Given the description of an element on the screen output the (x, y) to click on. 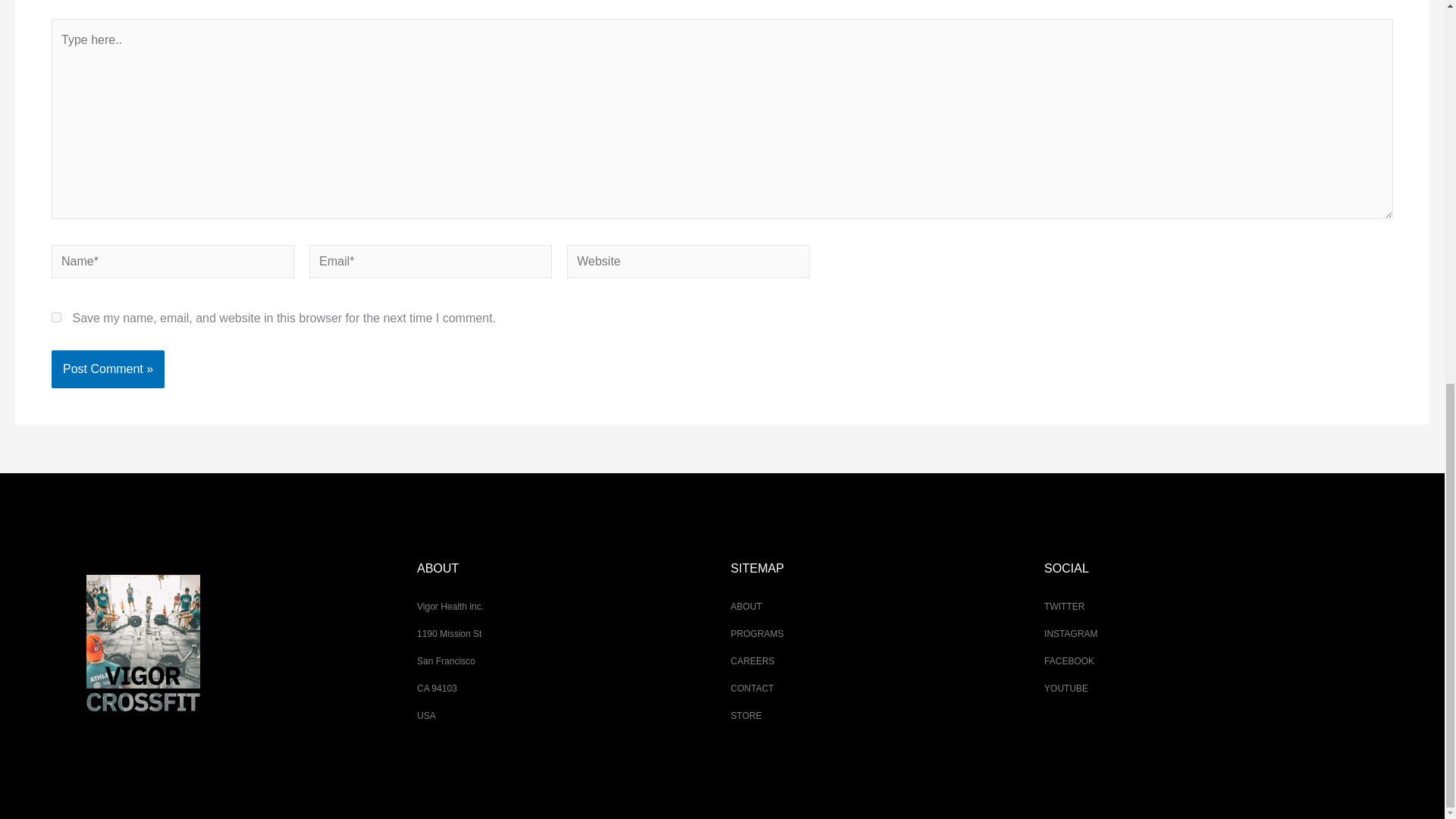
ABOUT (745, 606)
yes (55, 316)
STORE (745, 715)
YOUTUBE (1065, 688)
TWITTER (1063, 606)
INSTAGRAM (1070, 633)
FACEBOOK (1068, 661)
CAREERS (752, 661)
PROGRAMS (757, 633)
CONTACT (752, 688)
